Given the description of an element on the screen output the (x, y) to click on. 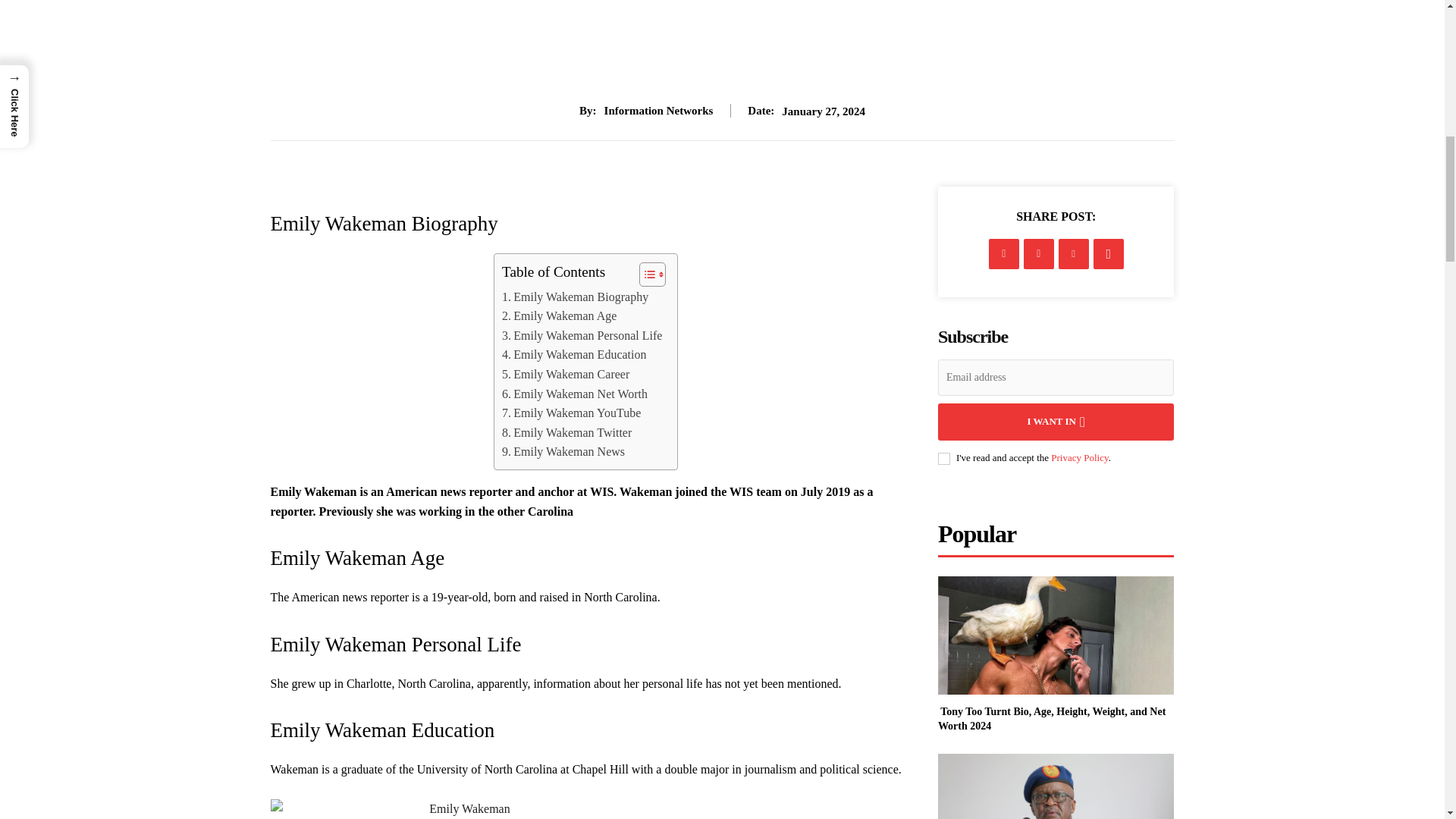
Emily Wakeman Personal Life (582, 335)
Emily Wakeman Education (574, 354)
Emily Wakeman Career (565, 374)
Emily Wakeman Biography (574, 297)
Advertisement (722, 52)
Emily Wakeman Age (558, 315)
